Given the description of an element on the screen output the (x, y) to click on. 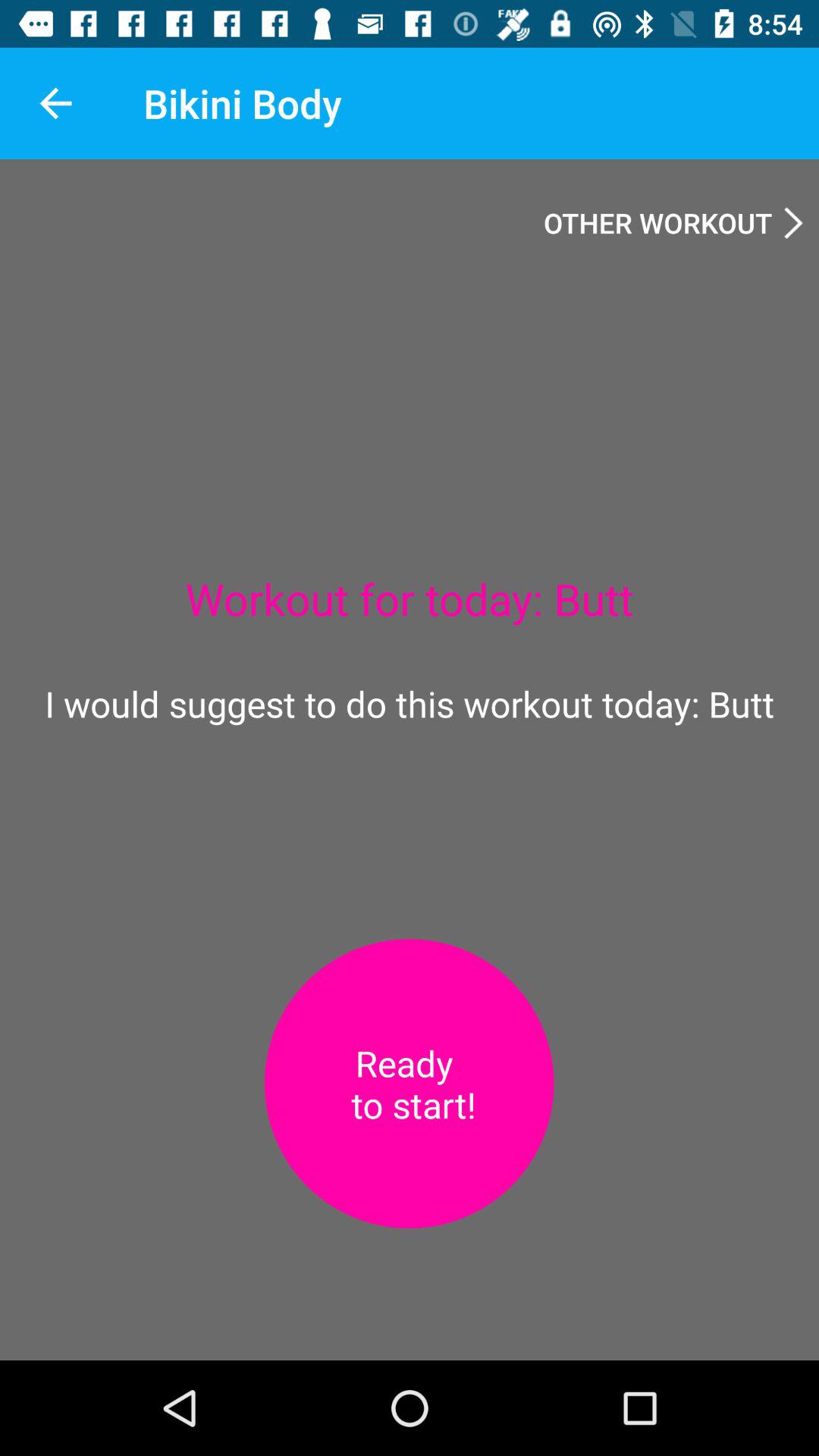
start workout (408, 1083)
